Given the description of an element on the screen output the (x, y) to click on. 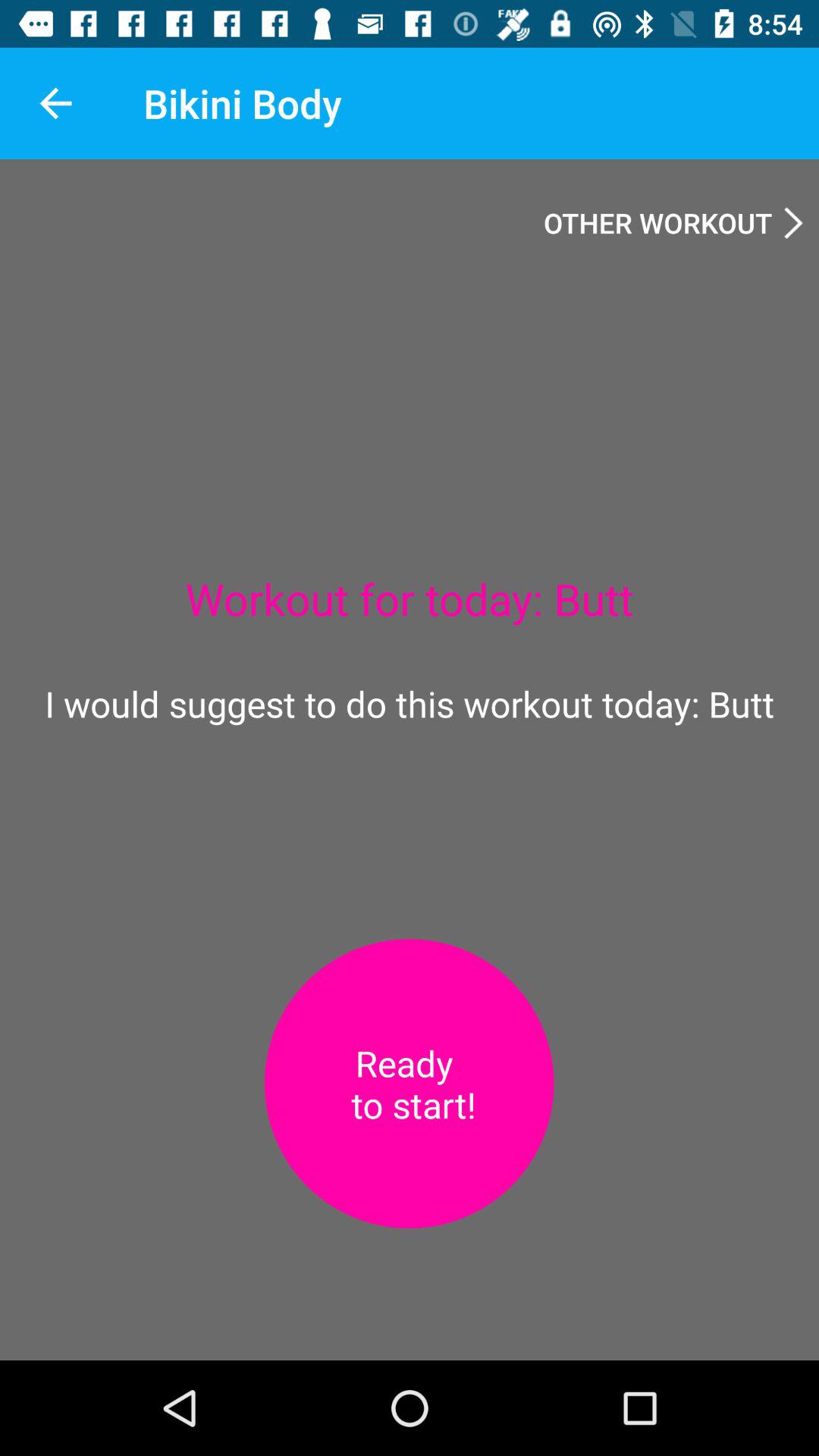
start workout (408, 1083)
